Given the description of an element on the screen output the (x, y) to click on. 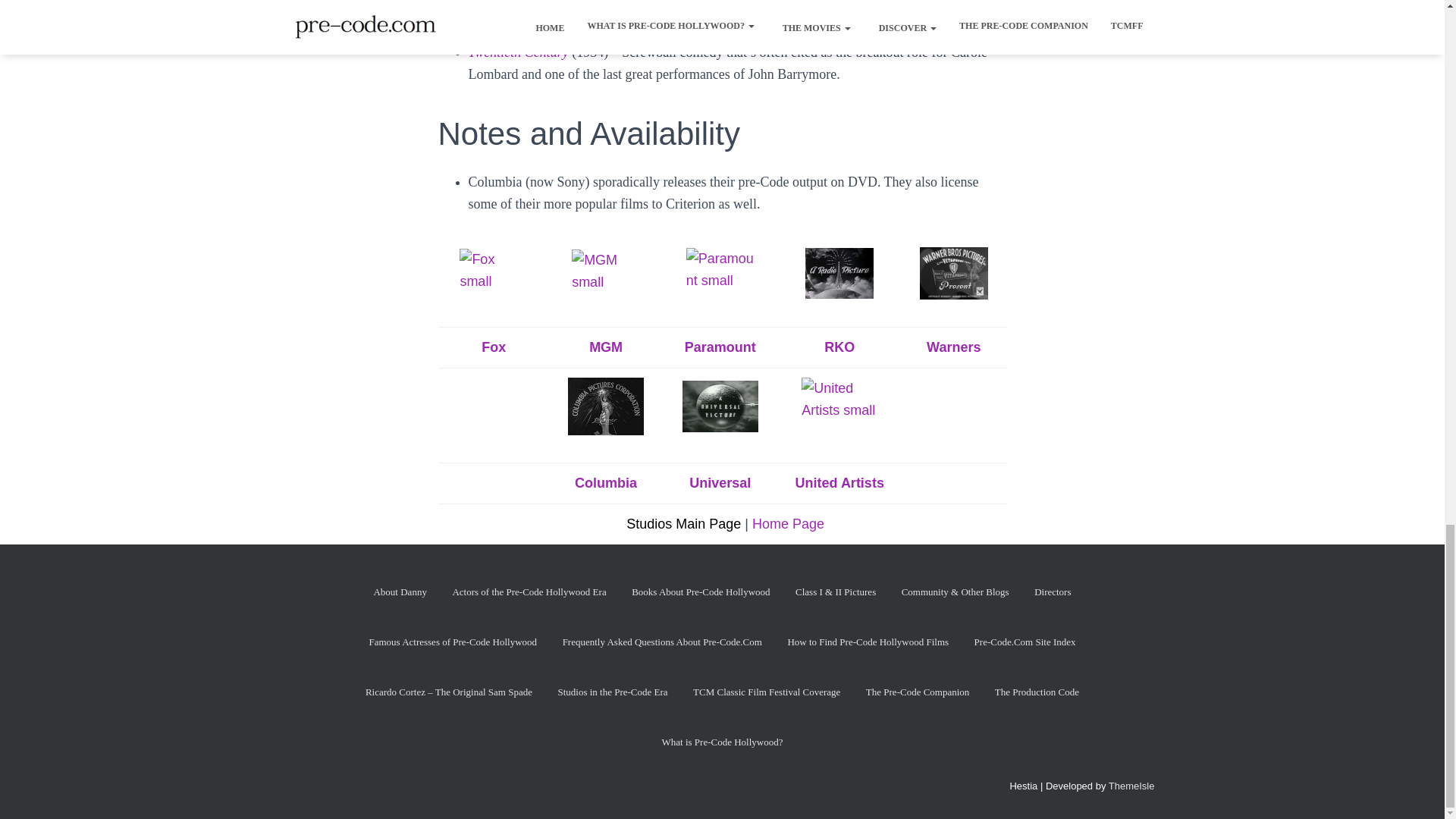
Paramount (719, 346)
MGM (606, 346)
Fox (493, 346)
RKO (839, 346)
Warners (952, 346)
Twentieth Century (520, 52)
